Given the description of an element on the screen output the (x, y) to click on. 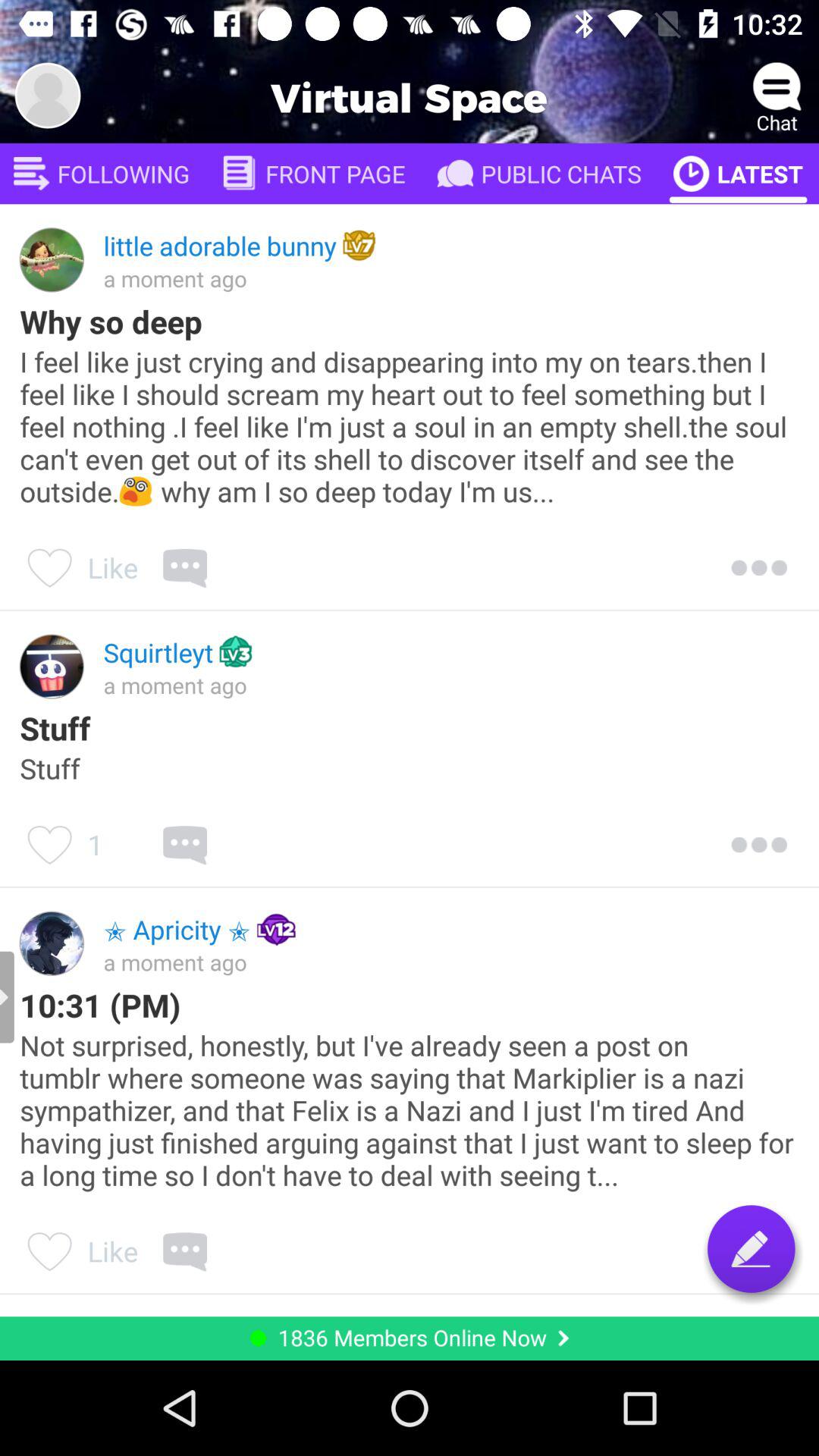
add status (751, 1248)
